Given the description of an element on the screen output the (x, y) to click on. 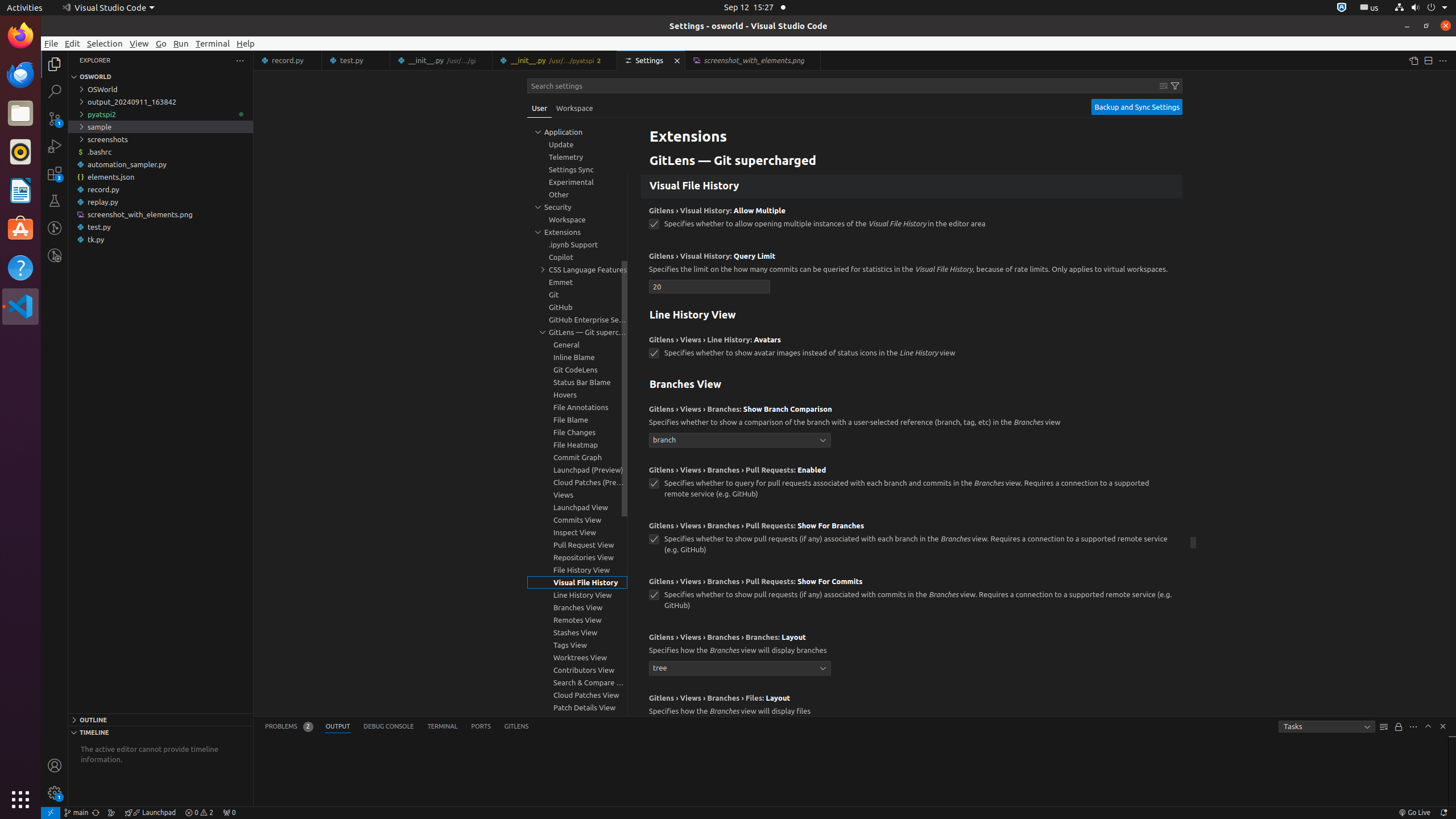
OSWorld (Git) - main, Checkout Branch/Tag... Element type: push-button (75, 812)
Clear Output Element type: push-button (1383, 726)
File Heatmap, group Element type: tree-item (577, 444)
output_20240911_163842 Element type: tree-item (160, 101)
gitlens.visualHistory.queryLimit Element type: spin-button (709, 285)
